Given the description of an element on the screen output the (x, y) to click on. 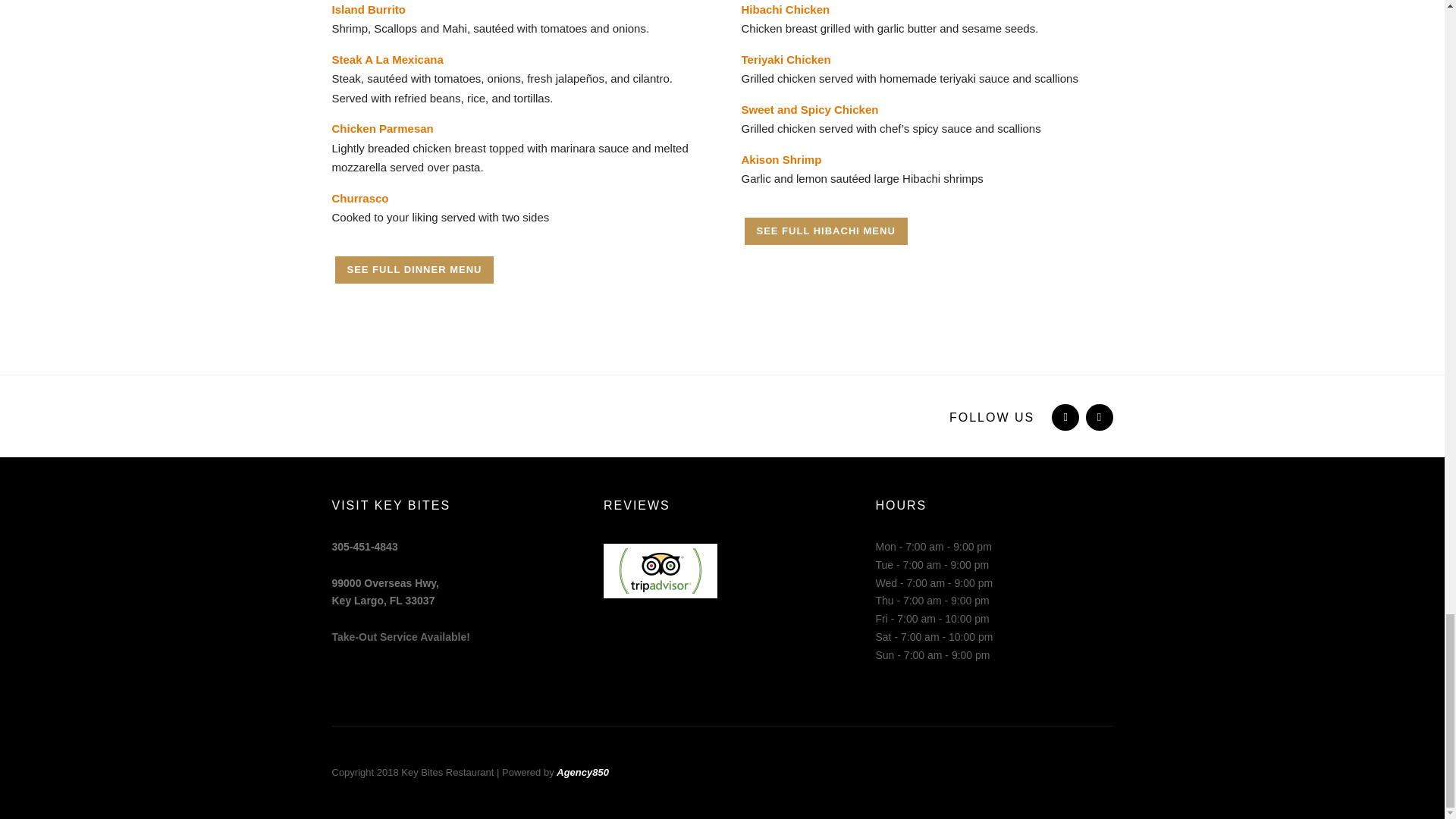
Facebook (1063, 417)
SEE FULL HIBACHI MENU (825, 230)
Yelp (1098, 417)
SEE FULL DINNER MENU (414, 269)
305-451-4843 (364, 546)
Agency850 (582, 771)
